Given the description of an element on the screen output the (x, y) to click on. 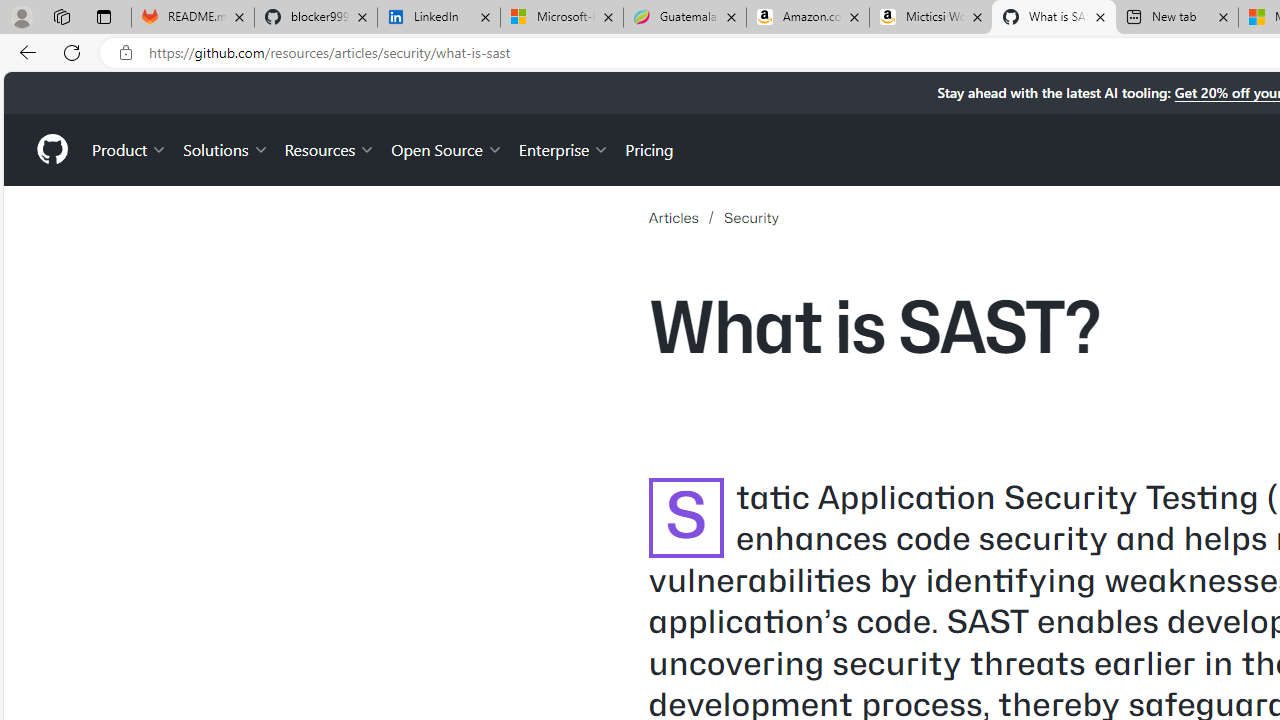
Enterprise (563, 148)
